Given the description of an element on the screen output the (x, y) to click on. 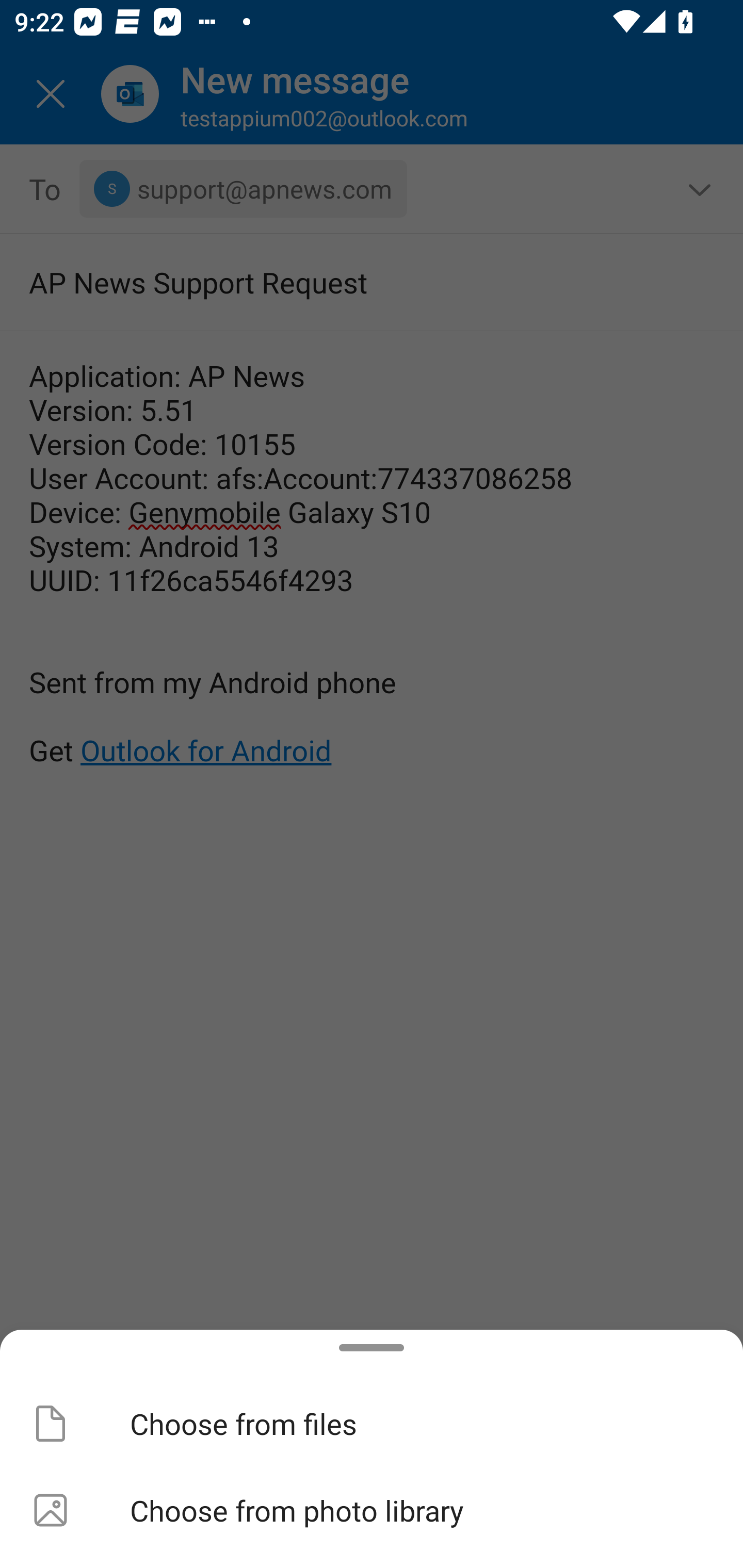
Choose from files (371, 1423)
Choose from photo library (371, 1510)
